Given the description of an element on the screen output the (x, y) to click on. 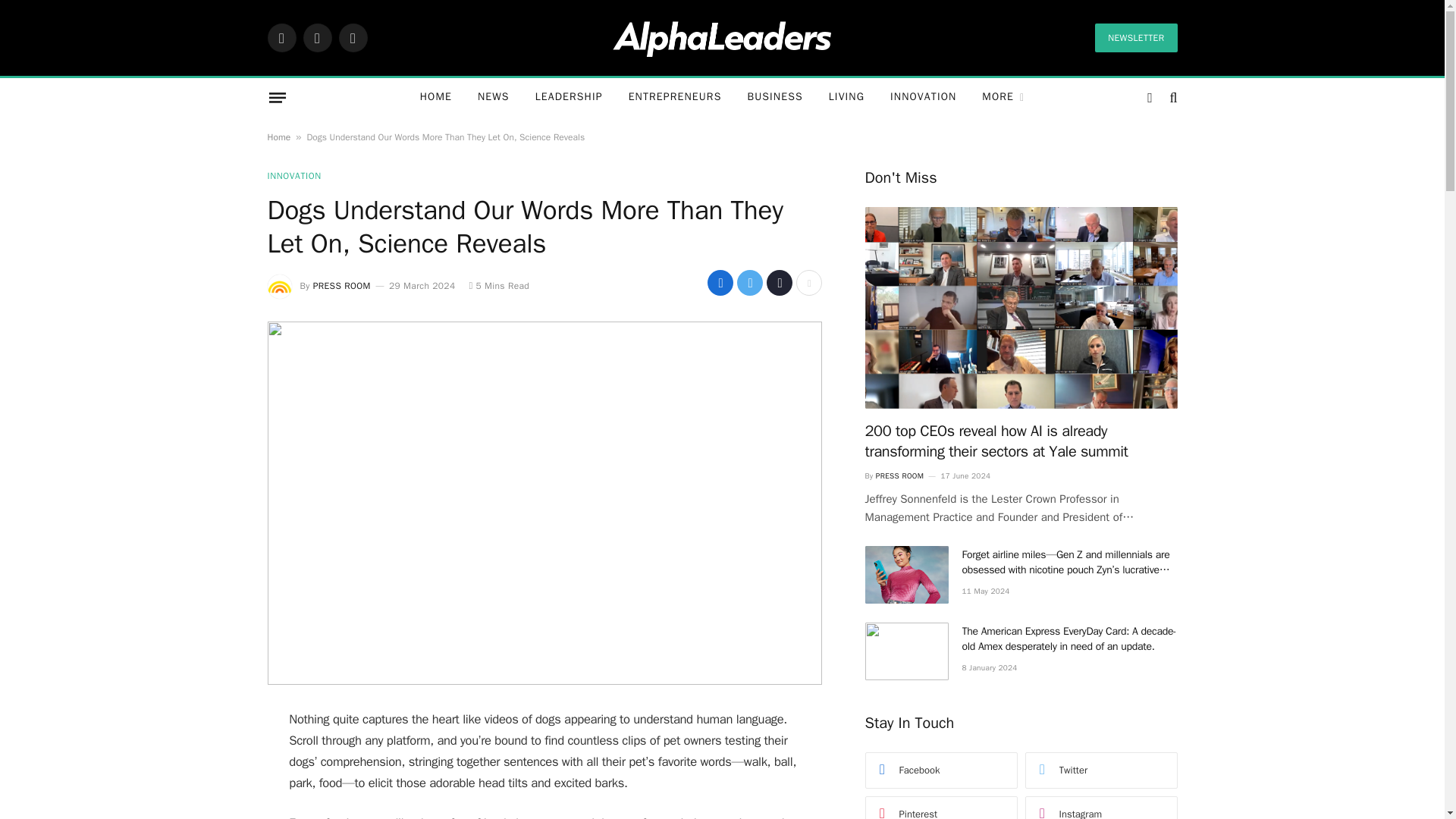
ENTREPRENEURS (675, 97)
Posts by Press Room (342, 285)
Facebook (280, 37)
BUSINESS (774, 97)
Switch to Dark Design - easier on eyes. (1149, 97)
HOME (435, 97)
LEADERSHIP (568, 97)
NEWS (493, 97)
MORE (1002, 97)
NEWSLETTER (1135, 37)
Alpha Leaders (721, 37)
LIVING (846, 97)
Search (1171, 97)
Instagram (351, 37)
Share on Facebook (720, 282)
